Given the description of an element on the screen output the (x, y) to click on. 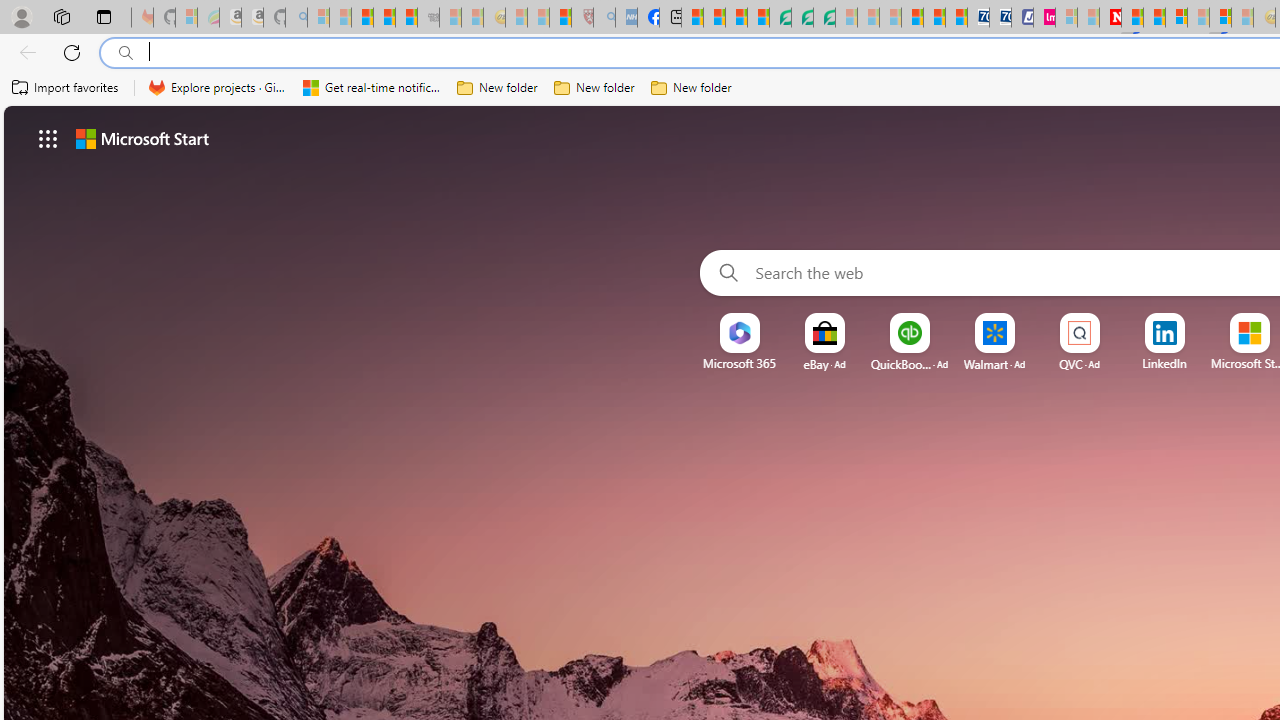
Ad (1093, 363)
Import favorites (65, 88)
Recipes - MSN - Sleeping (516, 17)
New Report Confirms 2023 Was Record Hot | Watch (406, 17)
NCL Adult Asthma Inhaler Choice Guideline - Sleeping (626, 17)
New folder (691, 88)
Combat Siege (428, 17)
Search icon (125, 53)
The Weather Channel - MSN (362, 17)
App launcher (47, 138)
Cheap Hotels - Save70.com (1000, 17)
